Given the description of an element on the screen output the (x, y) to click on. 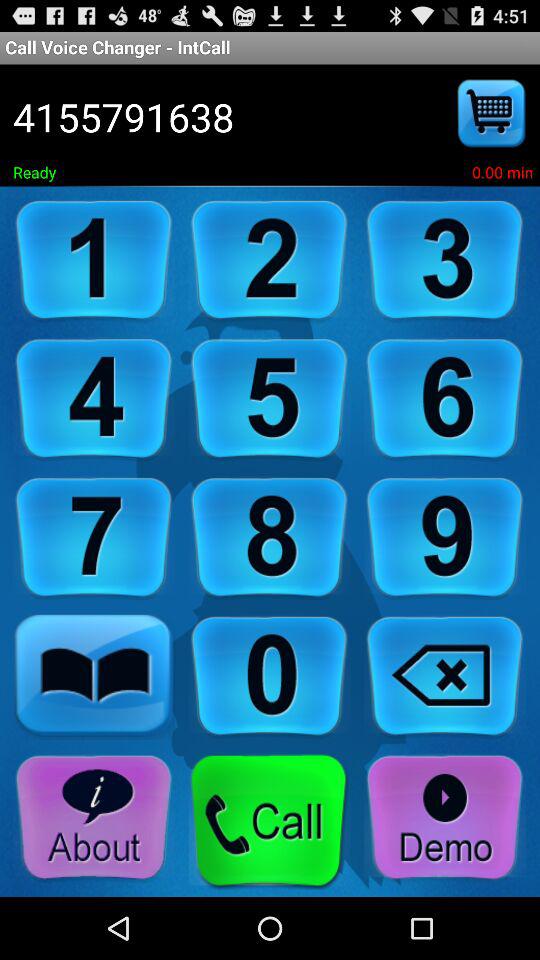
delete the number (445, 676)
